Given the description of an element on the screen output the (x, y) to click on. 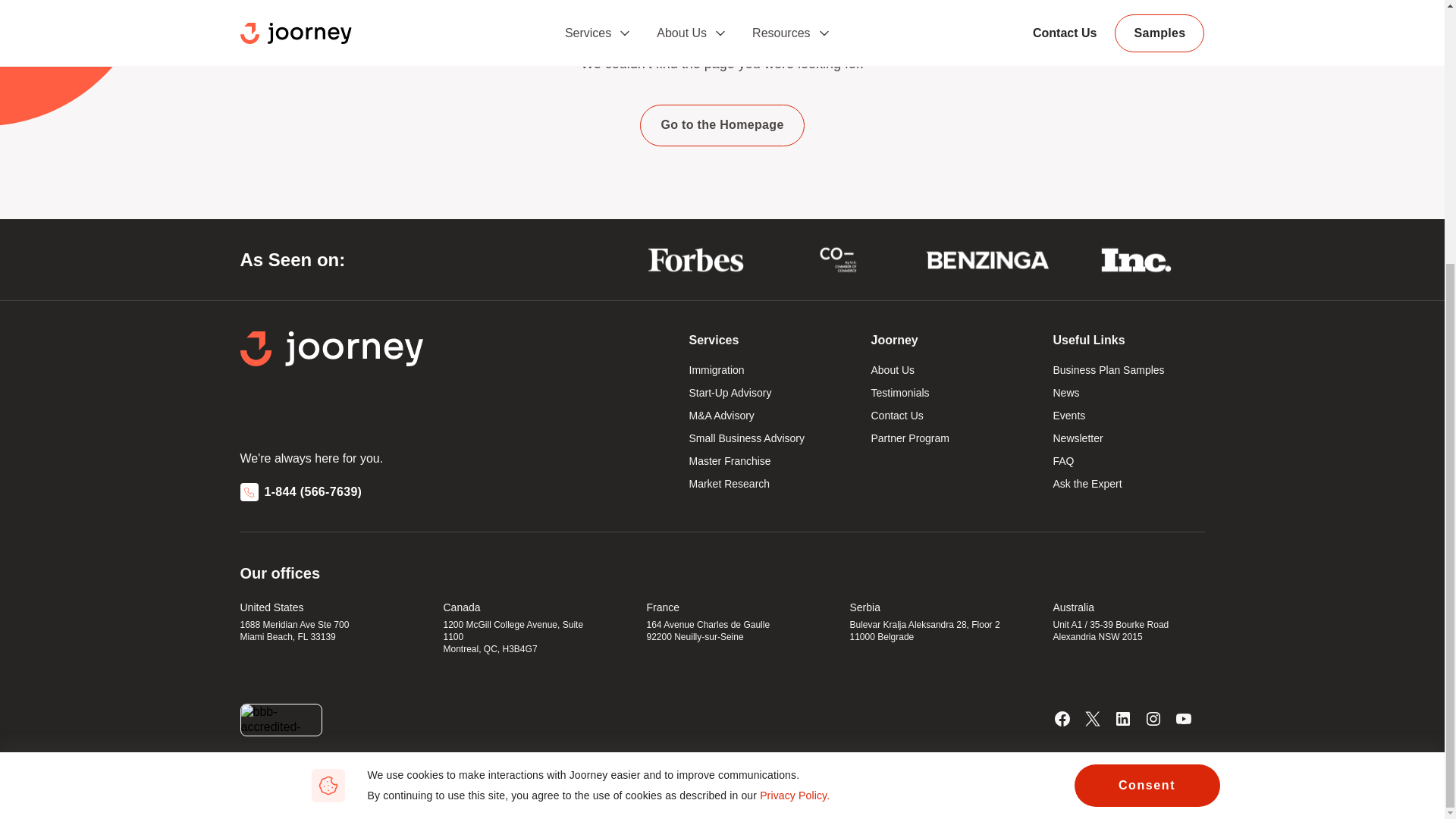
Privacy Policy. (794, 414)
Consent (1147, 404)
